Given the description of an element on the screen output the (x, y) to click on. 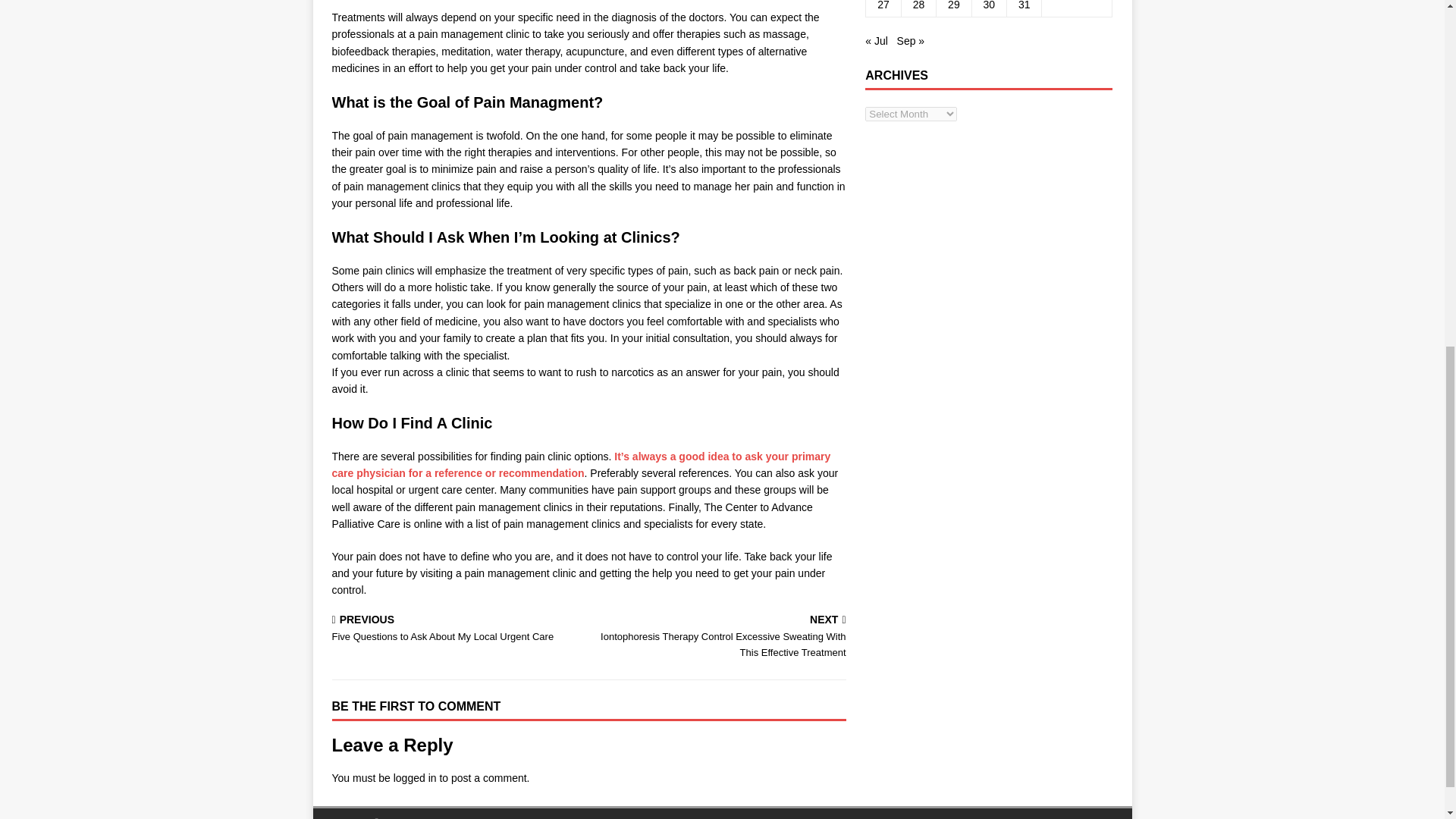
Alcoholism medications (581, 464)
logged in (414, 777)
